Given the description of an element on the screen output the (x, y) to click on. 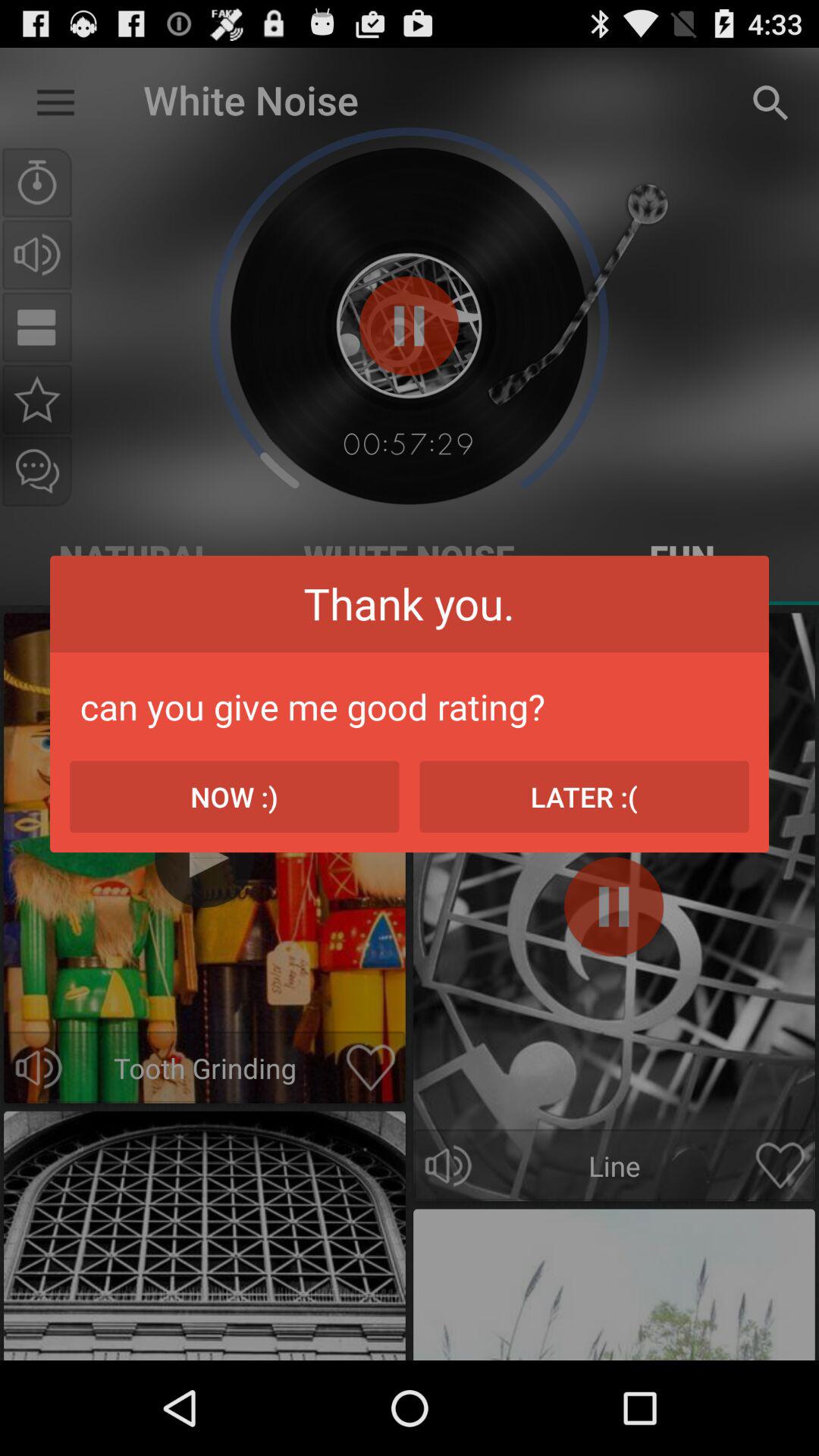
tap the icon to the right of the now :) item (584, 796)
